Given the description of an element on the screen output the (x, y) to click on. 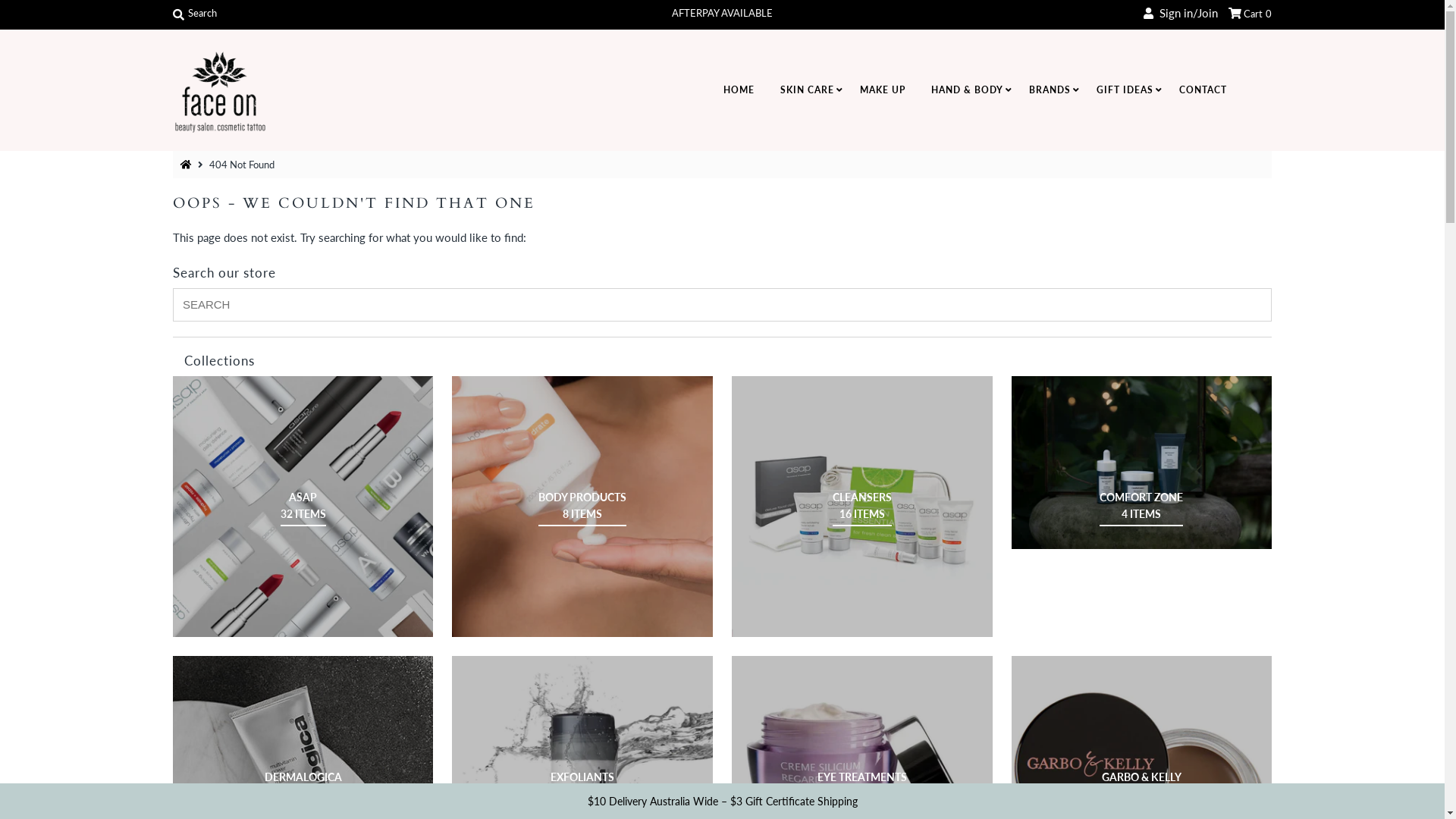
 Cart 0 Element type: text (1249, 12)
SKIN CARE Element type: text (806, 89)
EXFOLIANTS
9 ITEMS Element type: text (582, 785)
GARBO & KELLY
14 ITEMS Element type: text (1141, 785)
CONTACT Element type: text (1202, 89)
HOME Element type: text (738, 89)
GIFT IDEAS Element type: text (1124, 89)
ASAP Element type: hover (302, 506)
BRANDS Element type: text (1049, 89)
DERMALOGICA
31 ITEMS Element type: text (303, 785)
CLEANSERS
16 ITEMS Element type: text (861, 505)
ASAP
32 ITEMS Element type: text (303, 505)
HAND & BODY Element type: text (966, 89)
Comfort Zone Element type: hover (1141, 462)
Back to the frontpage Element type: hover (187, 164)
Body Products Element type: hover (581, 506)
COMFORT ZONE
4 ITEMS Element type: text (1141, 505)
EYE TREATMENTS
7 ITEMS Element type: text (861, 785)
MAKE UP Element type: text (881, 89)
BODY PRODUCTS
8 ITEMS Element type: text (582, 505)
Cleansers Element type: hover (861, 506)
  Sign in/Join Element type: text (1180, 12)
